Given the description of an element on the screen output the (x, y) to click on. 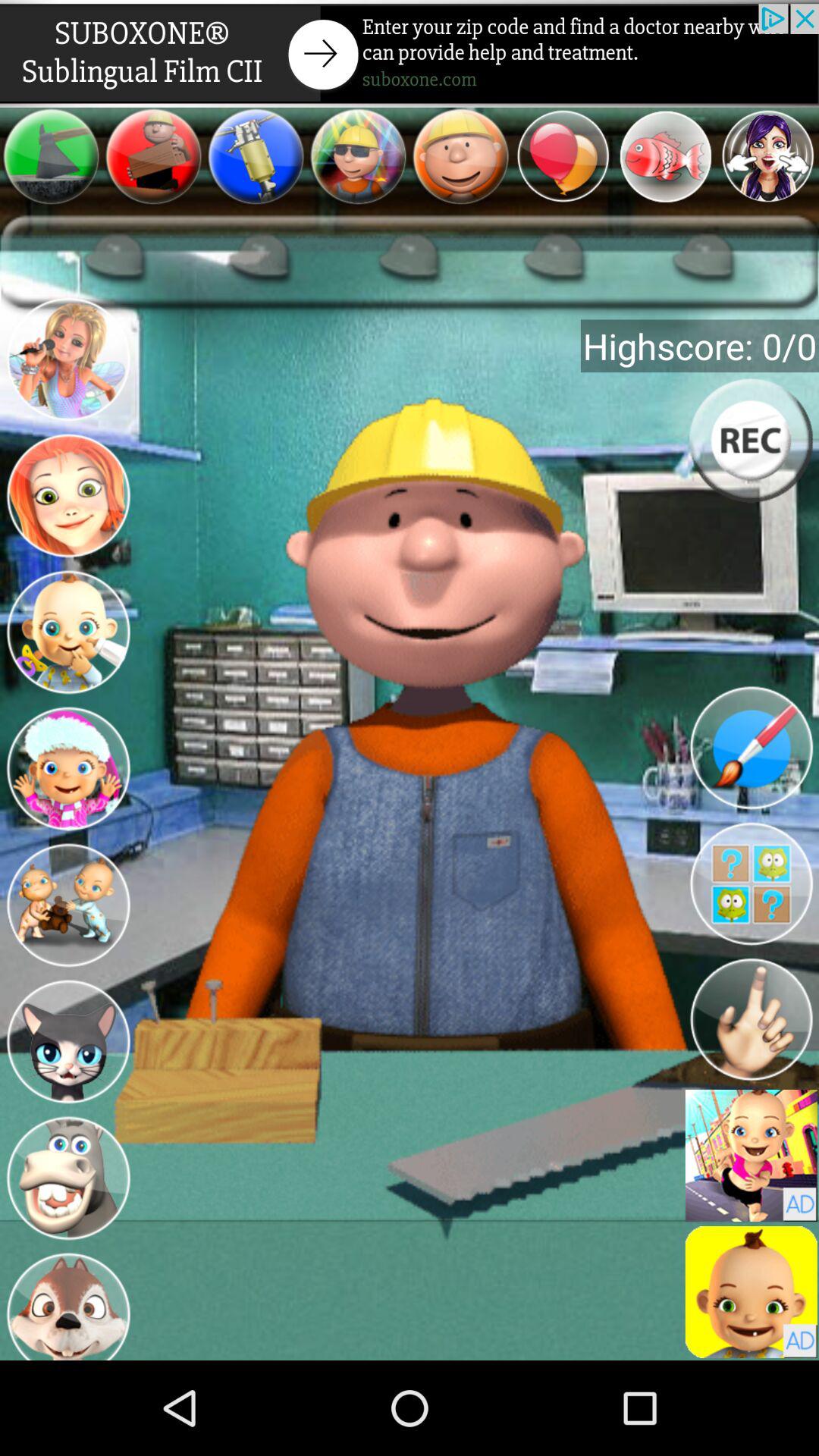
share the article (409, 53)
